Given the description of an element on the screen output the (x, y) to click on. 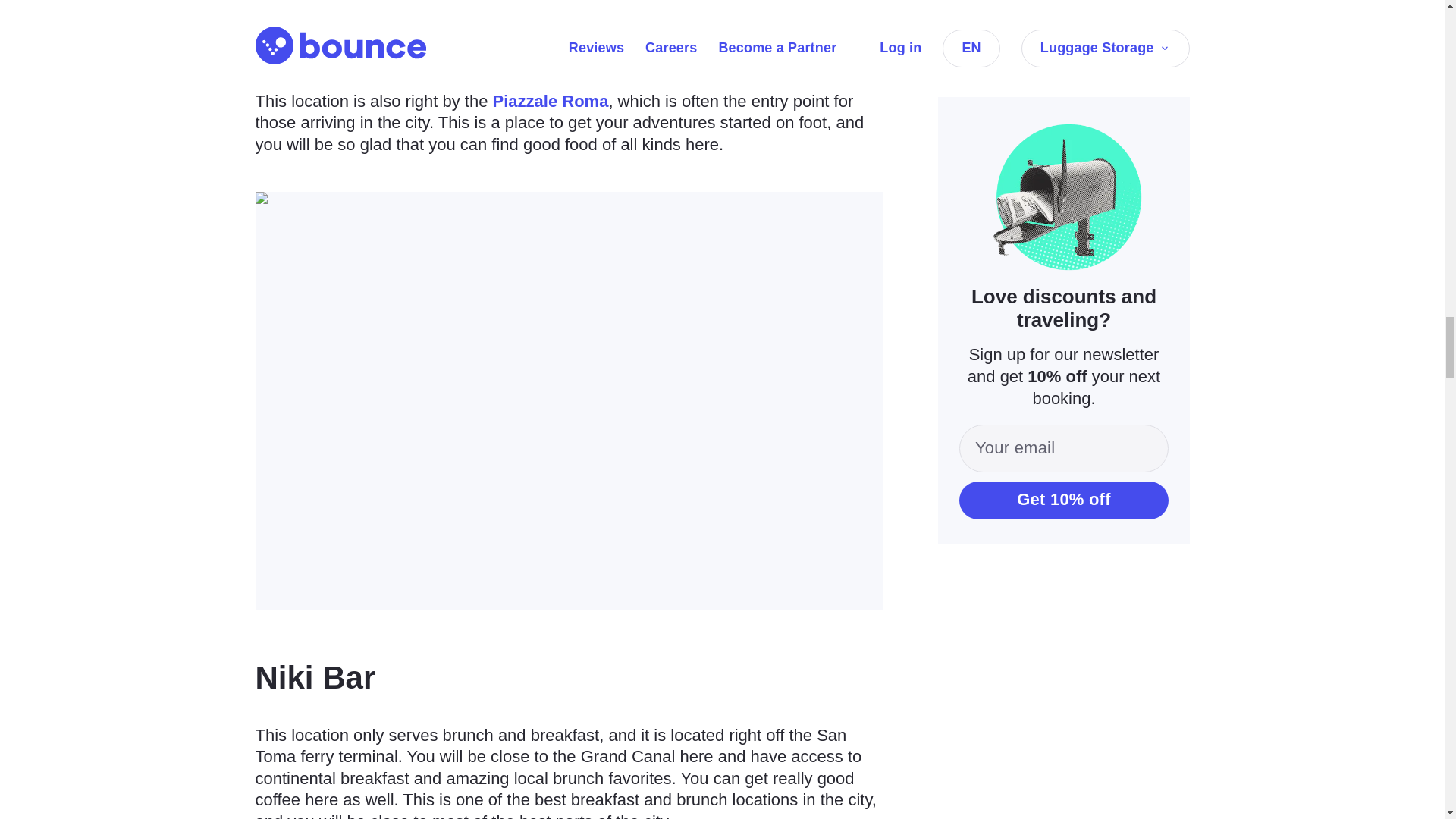
Piazzale Roma (550, 100)
